Given the description of an element on the screen output the (x, y) to click on. 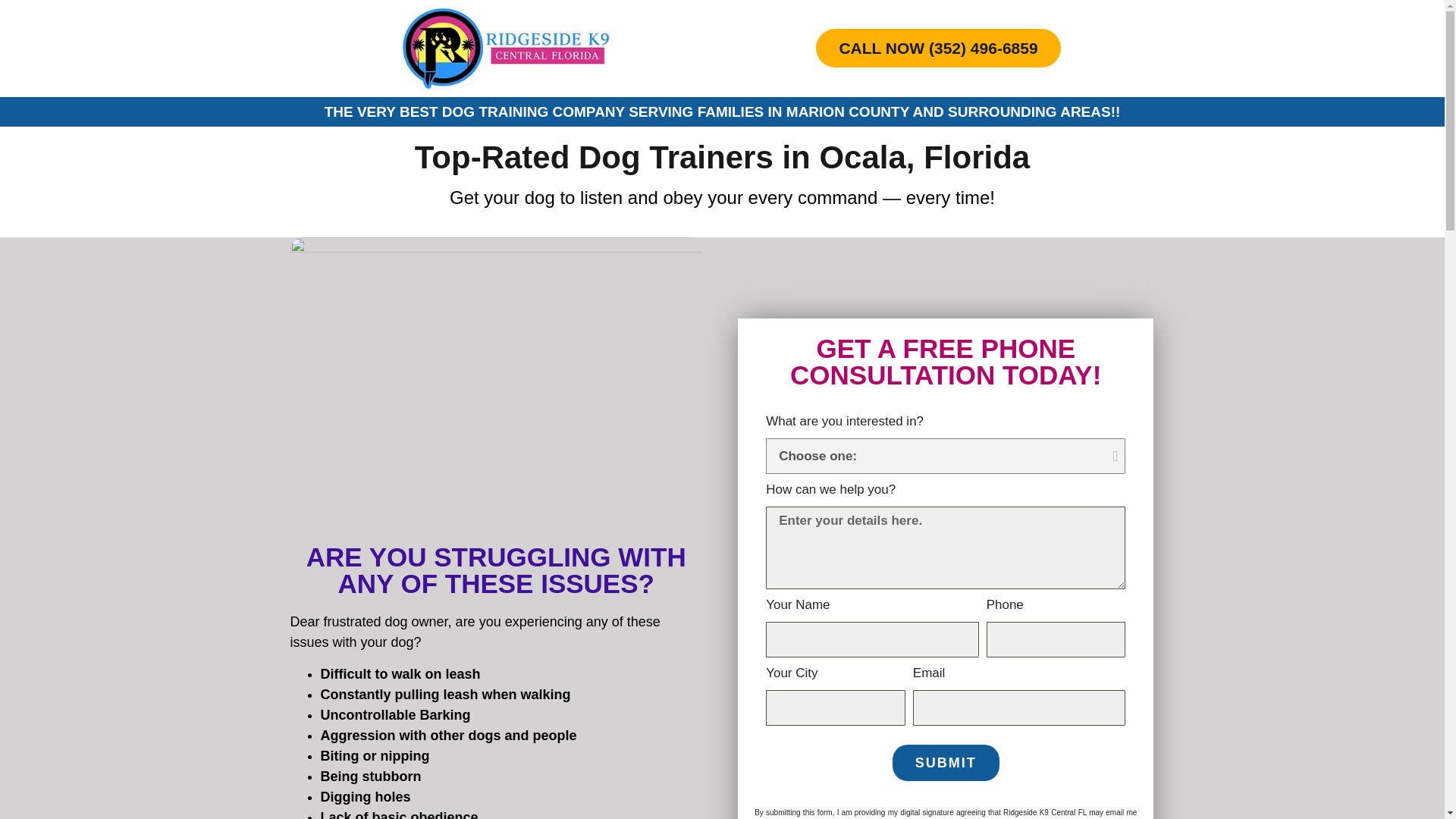
SUBMIT (945, 762)
